Given the description of an element on the screen output the (x, y) to click on. 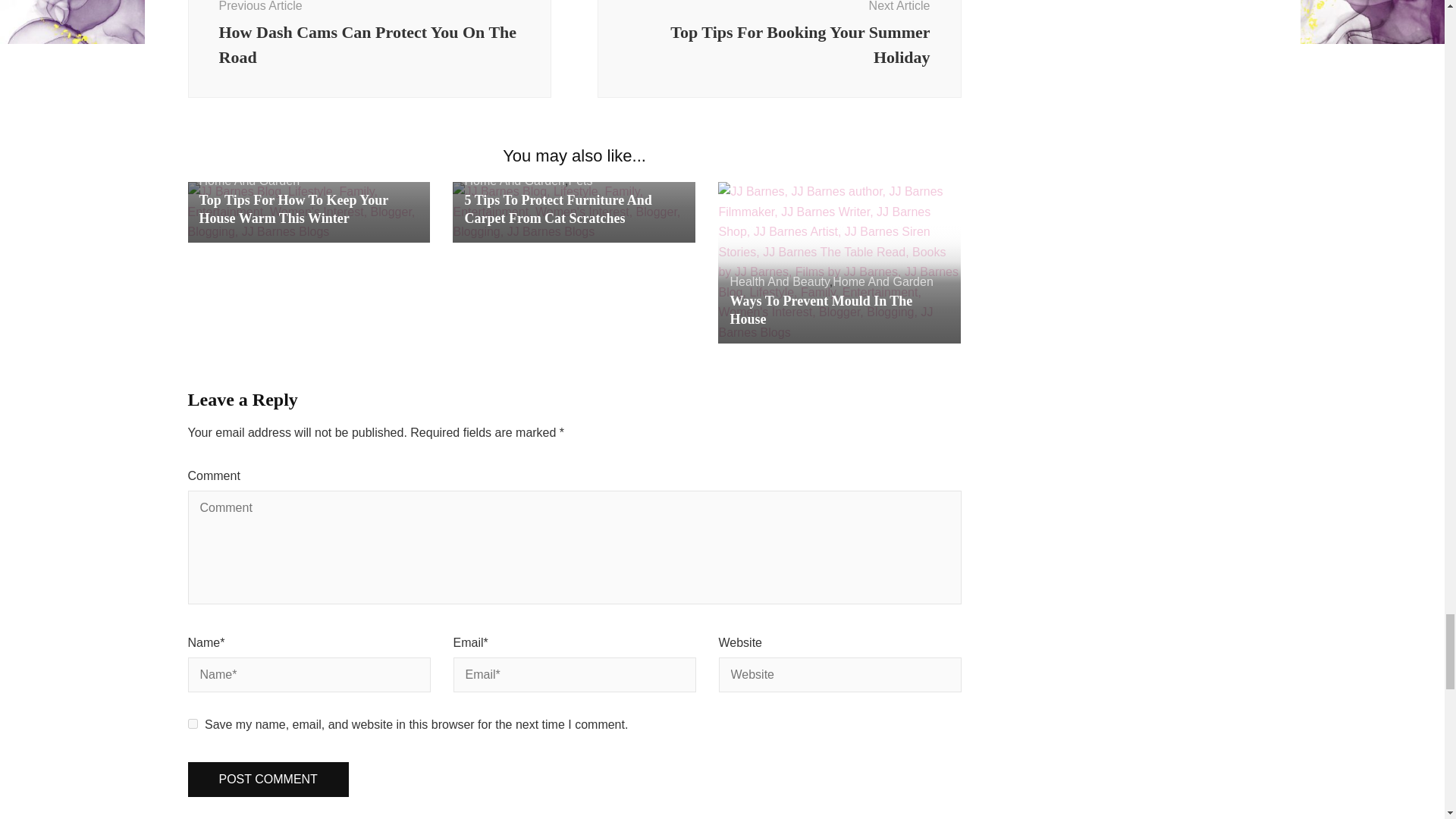
yes (192, 723)
Post Comment (268, 779)
